Given the description of an element on the screen output the (x, y) to click on. 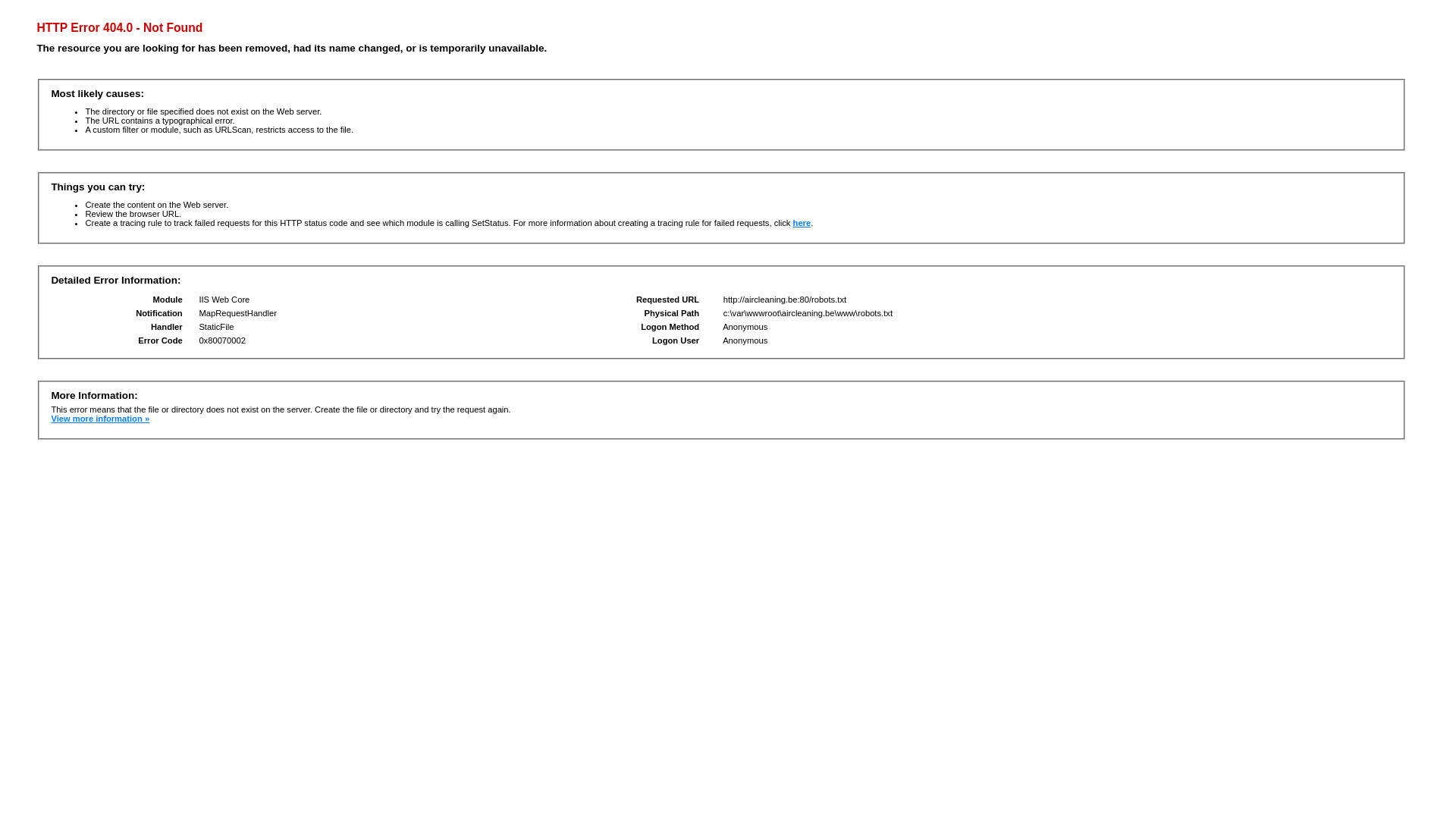
here Element type: text (802, 222)
